Given the description of an element on the screen output the (x, y) to click on. 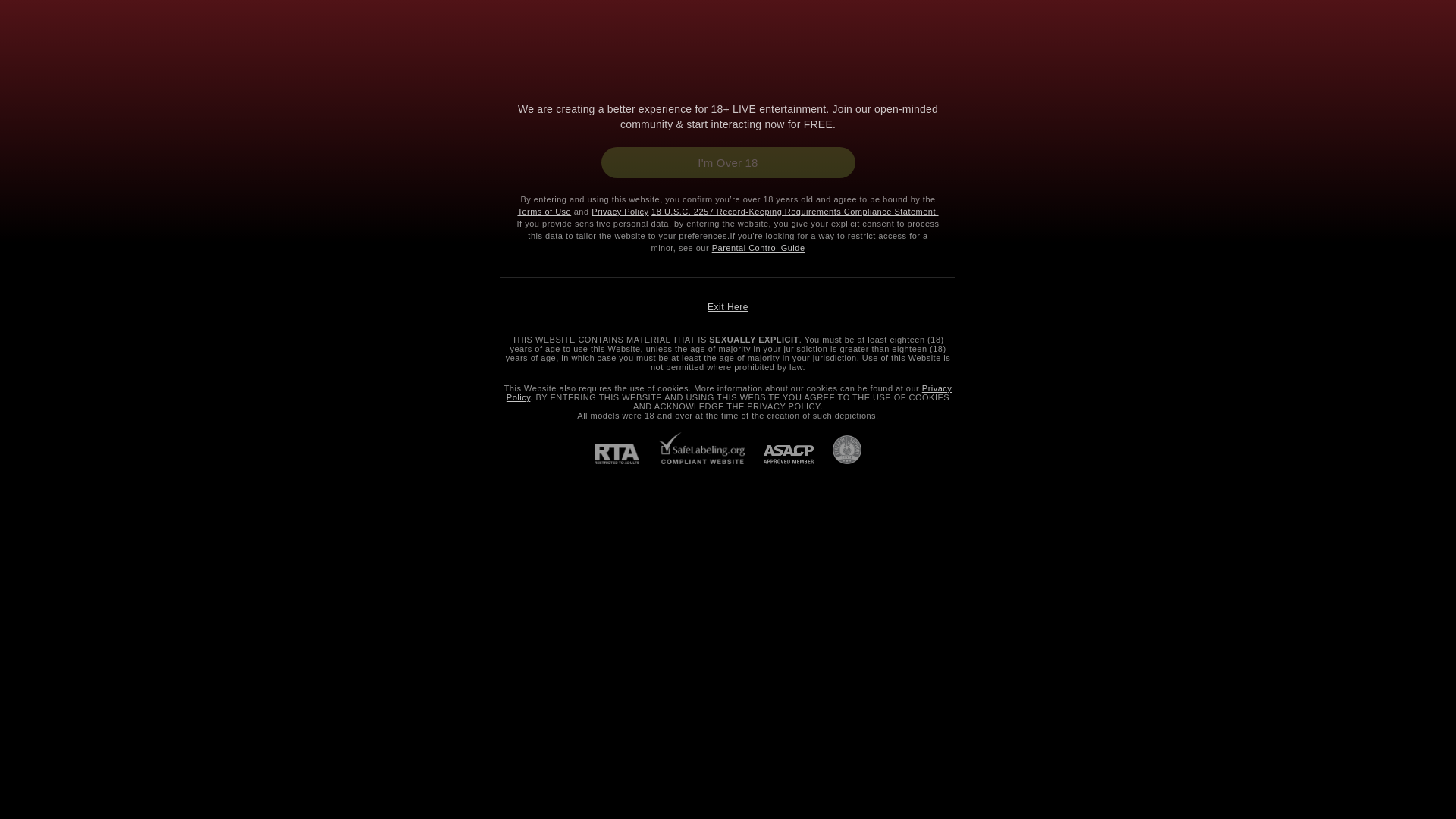
Terms of Use (543, 211)
I'm Over 18 (726, 162)
Privacy Policy (729, 393)
Parental Control Guide (758, 247)
Exit Here (727, 307)
